Given the description of an element on the screen output the (x, y) to click on. 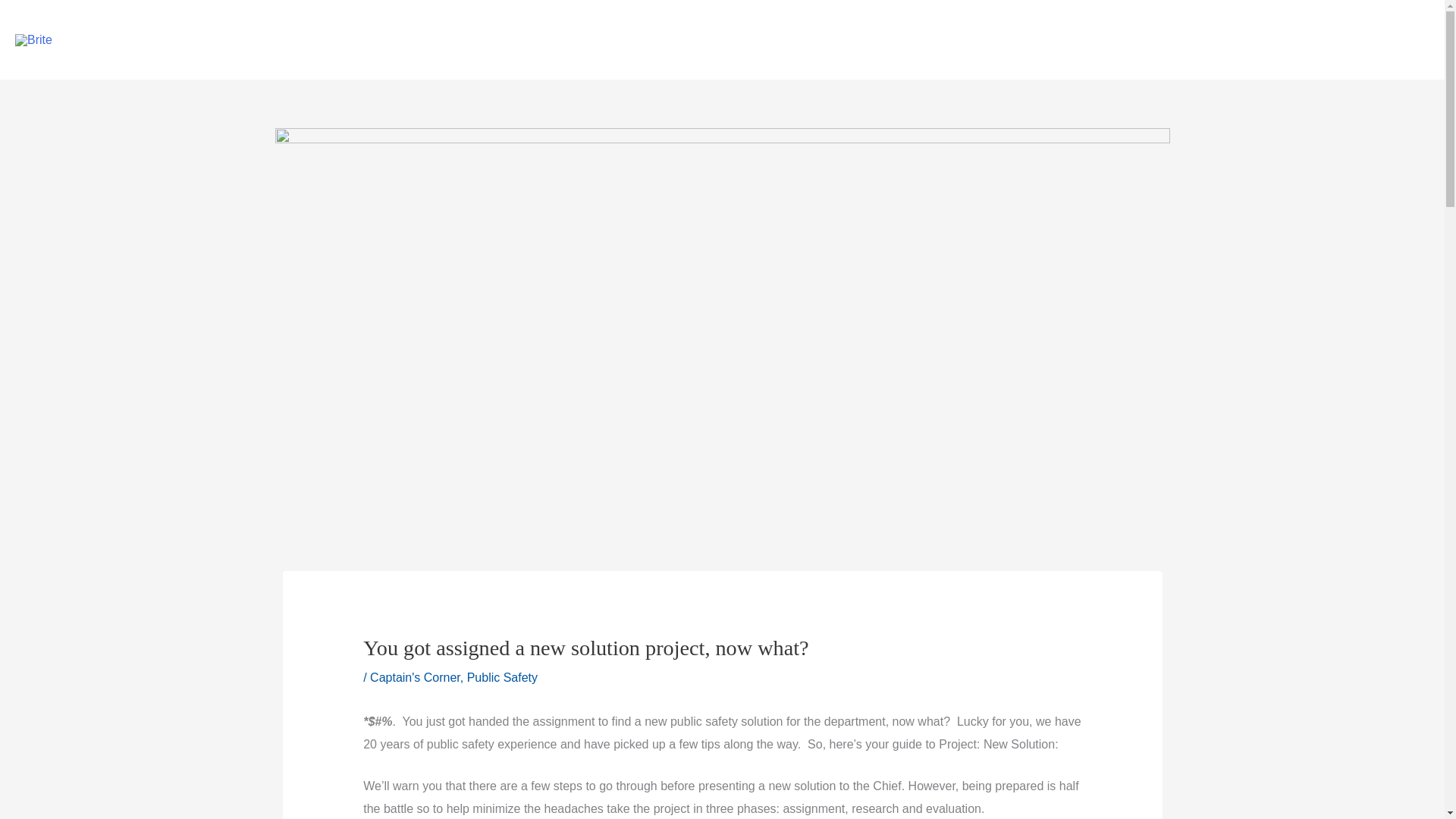
Resources (720, 43)
Partners (636, 43)
Solutions (557, 43)
Support (805, 43)
